Given the description of an element on the screen output the (x, y) to click on. 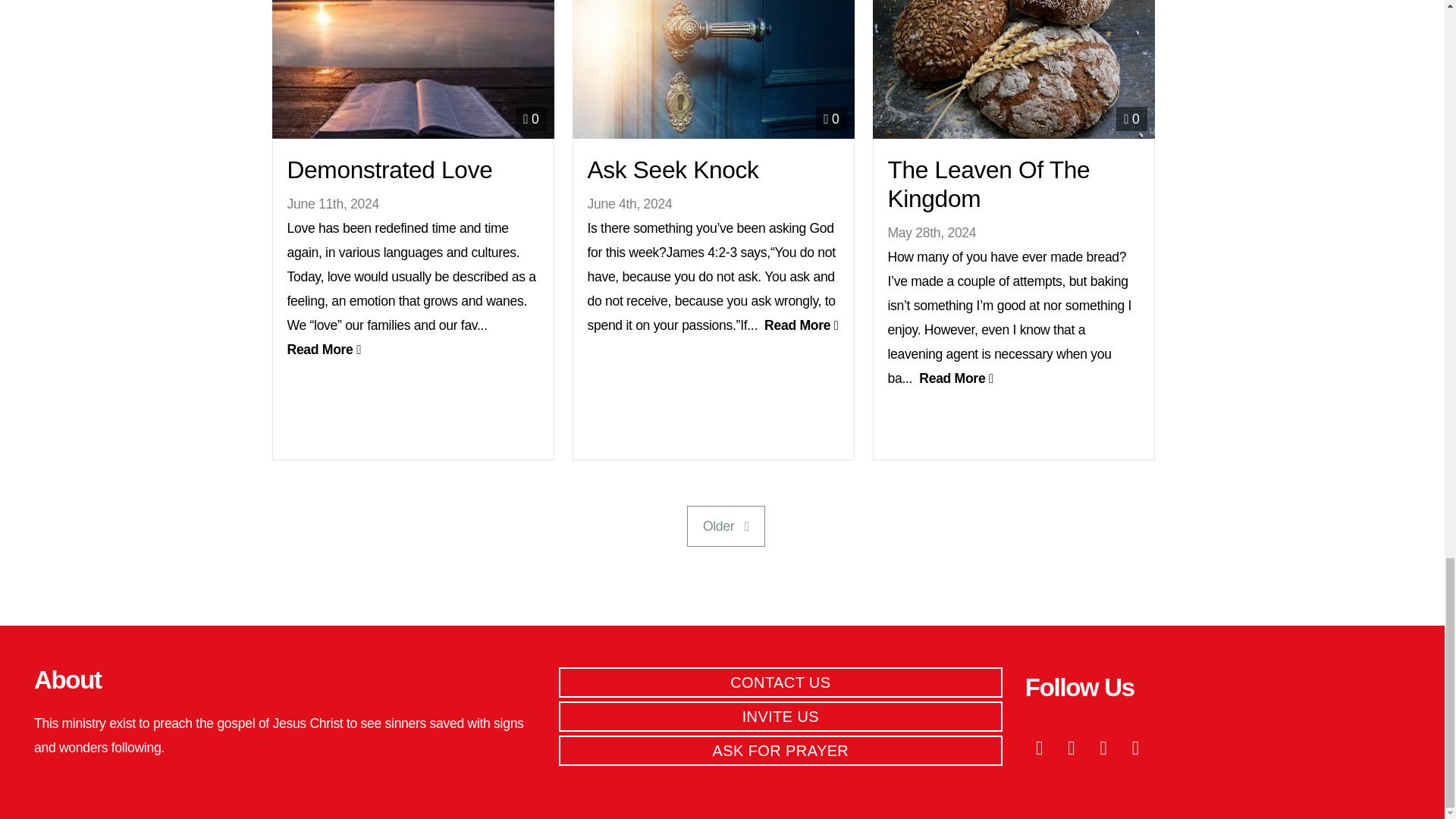
CONTACT US (781, 682)
Older    (726, 526)
ASK FOR PRAYER (781, 750)
INVITE US (781, 716)
